Given the description of an element on the screen output the (x, y) to click on. 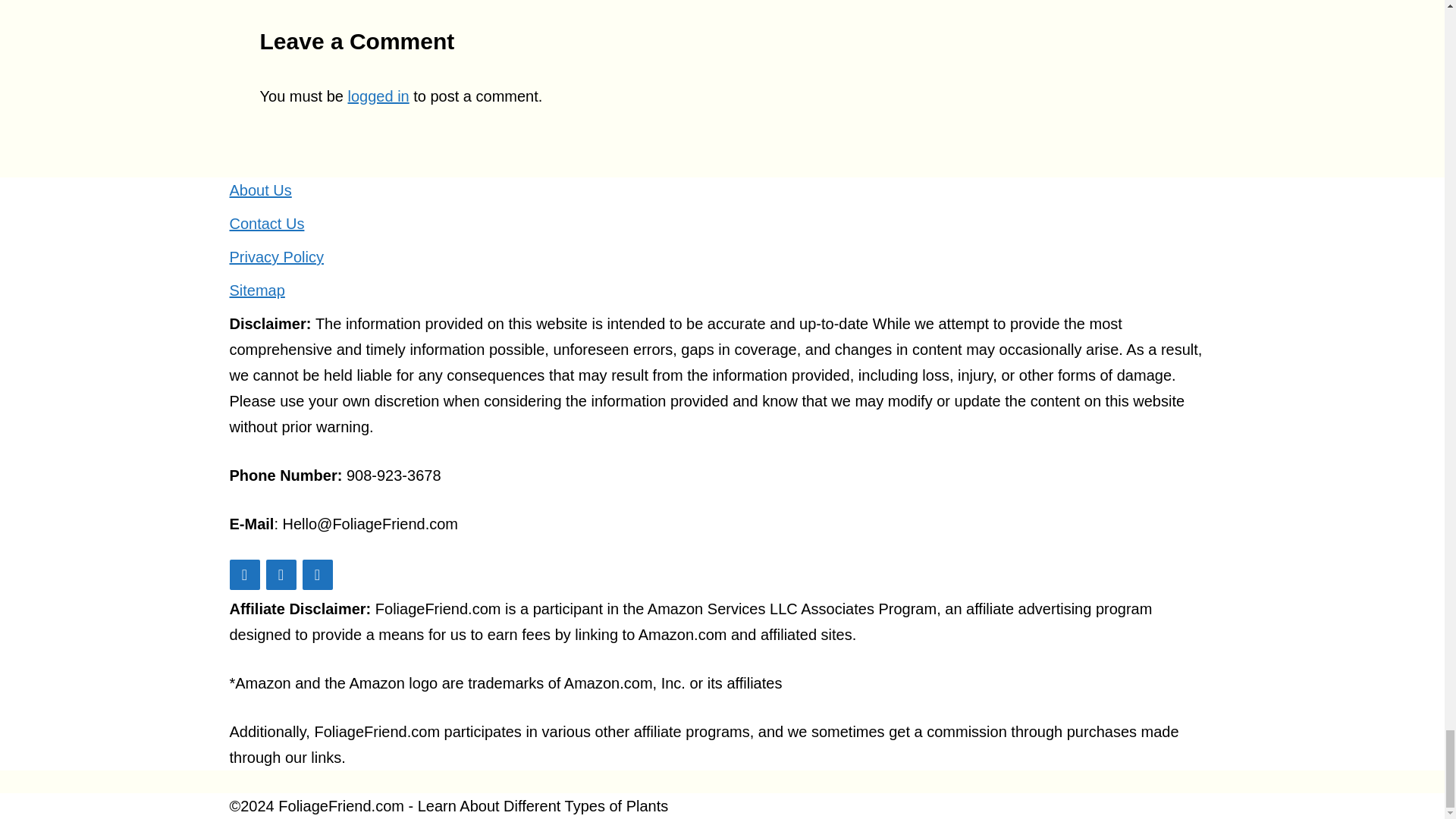
Instagram (316, 574)
YouTube (243, 574)
Facebook (279, 574)
